Given the description of an element on the screen output the (x, y) to click on. 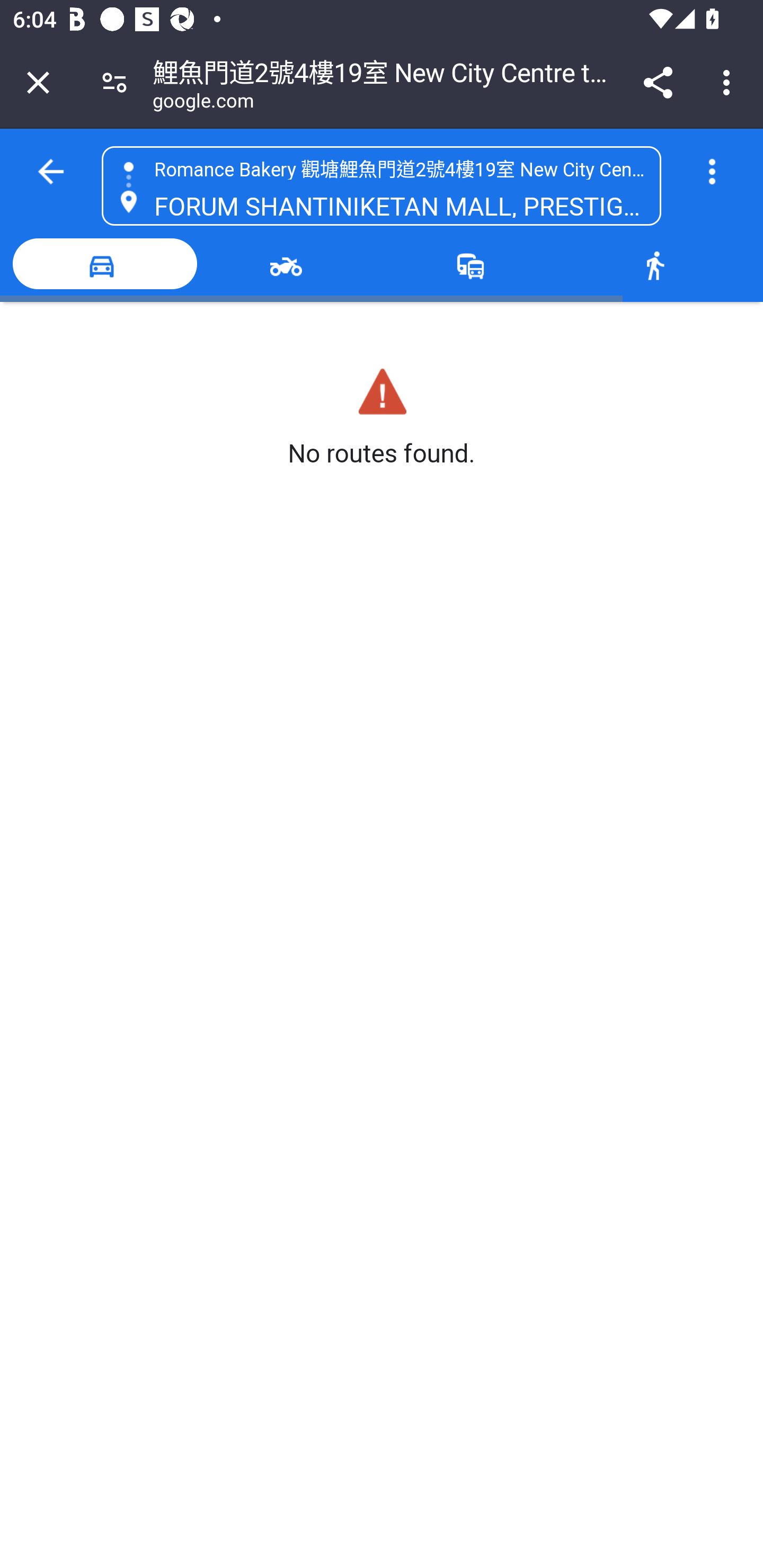
Close tab (38, 82)
Share (657, 82)
Customize and control Google Chrome (729, 82)
Connection is secure (114, 81)
google.com (203, 103)
Back (50, 171)
More options (711, 171)
Driving Mode (104, 263)
Two-wheeler Mode (288, 263)
Transit Mode (473, 263)
Walking Mode (658, 263)
